Given the description of an element on the screen output the (x, y) to click on. 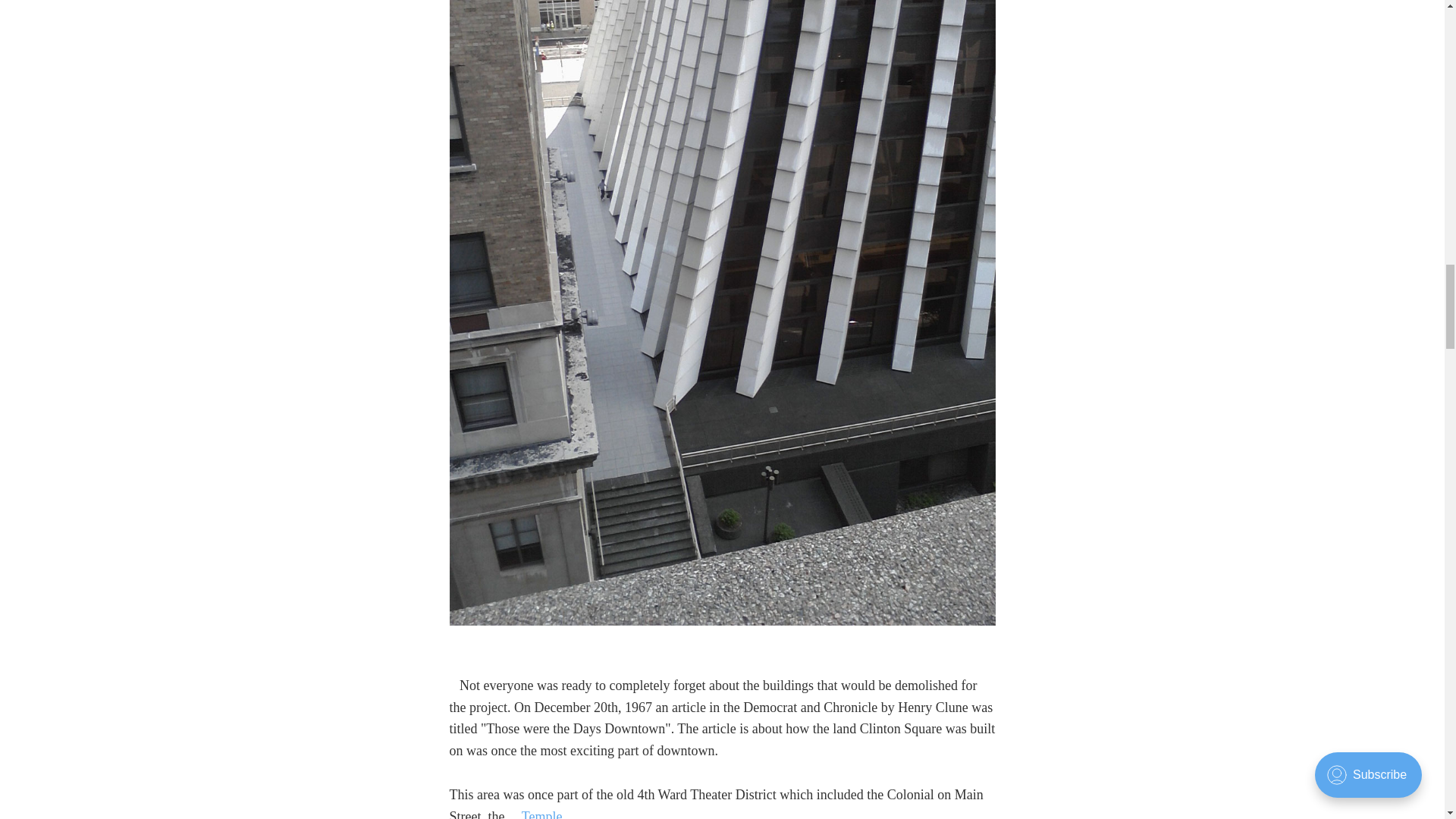
    Temple (535, 814)
